Given the description of an element on the screen output the (x, y) to click on. 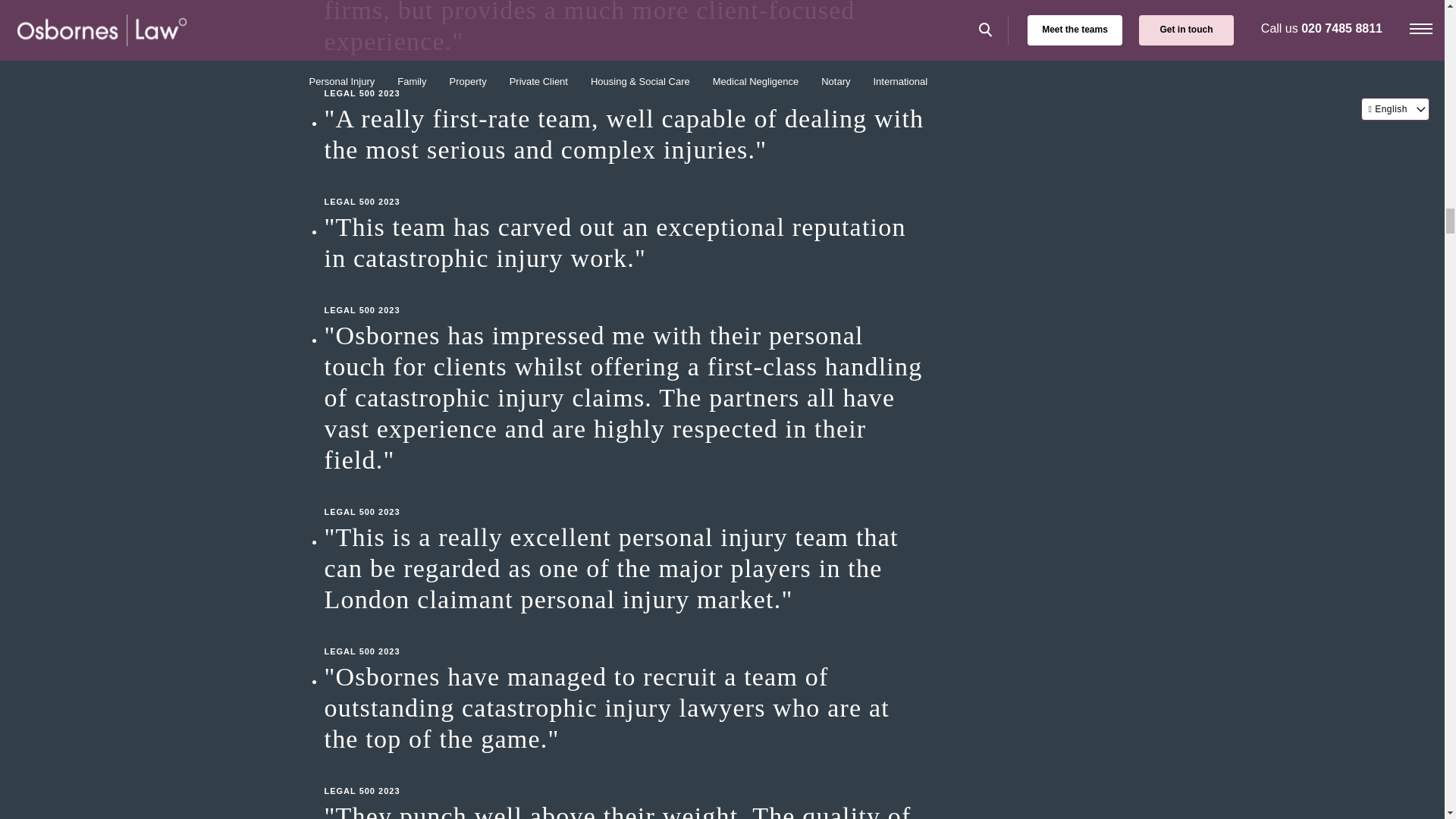
LEGAL 500 2023 (627, 77)
LEGAL 500 2023 (627, 294)
LEGAL 500 2023 (627, 775)
LEGAL 500 2023 (627, 186)
LEGAL 500 2023 (627, 636)
LEGAL 500 2023 (627, 496)
